Given the description of an element on the screen output the (x, y) to click on. 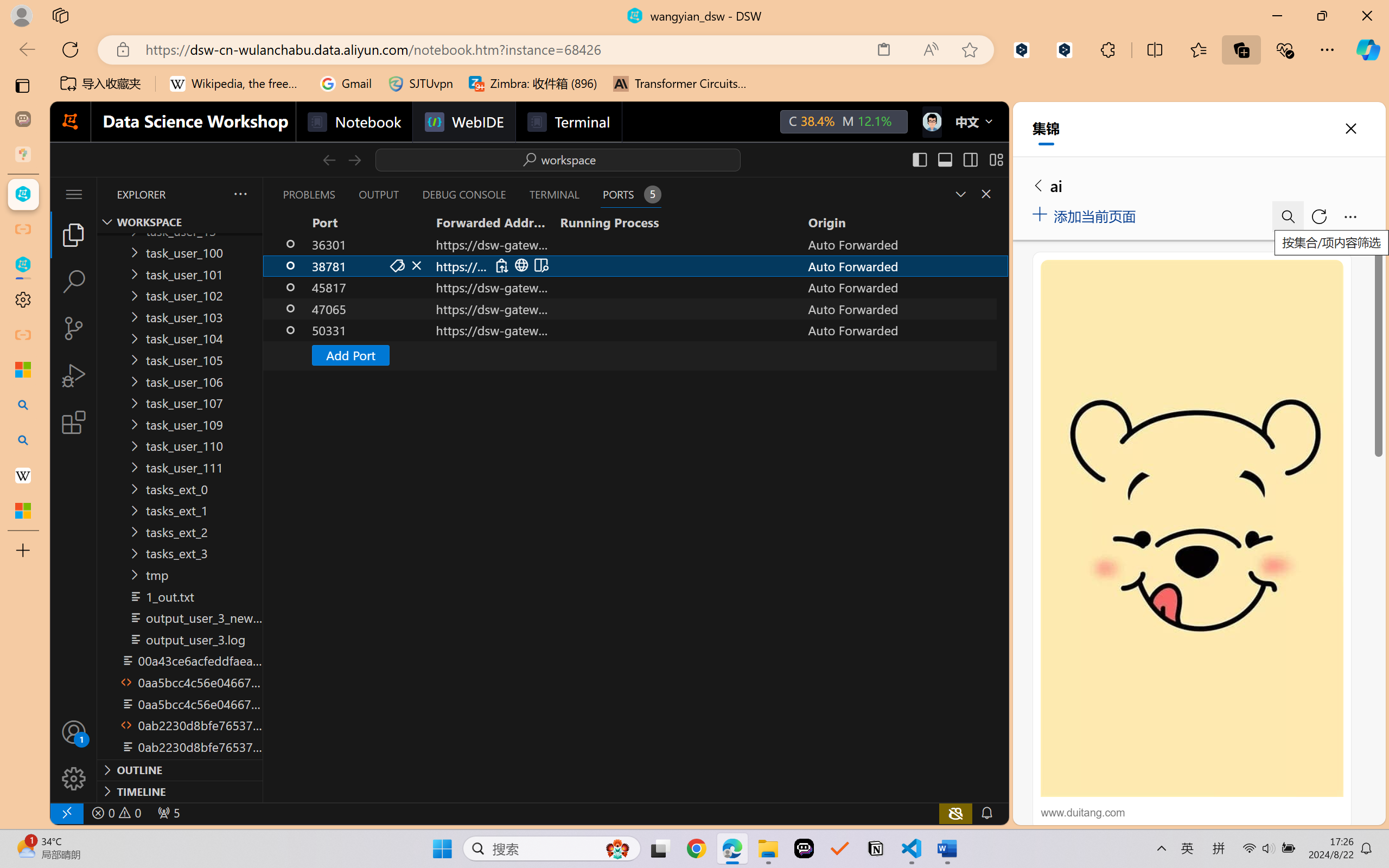
Toggle Secondary Side Bar (Ctrl+Alt+B) (969, 159)
wangyian_dsw - DSW (22, 194)
Set Port Label (F2) (396, 265)
Title actions (957, 159)
Customize Layout... (995, 159)
Terminal (568, 121)
Search (Ctrl+Shift+F) (73, 281)
Extensions (Ctrl+Shift+X) (73, 422)
